Given the description of an element on the screen output the (x, y) to click on. 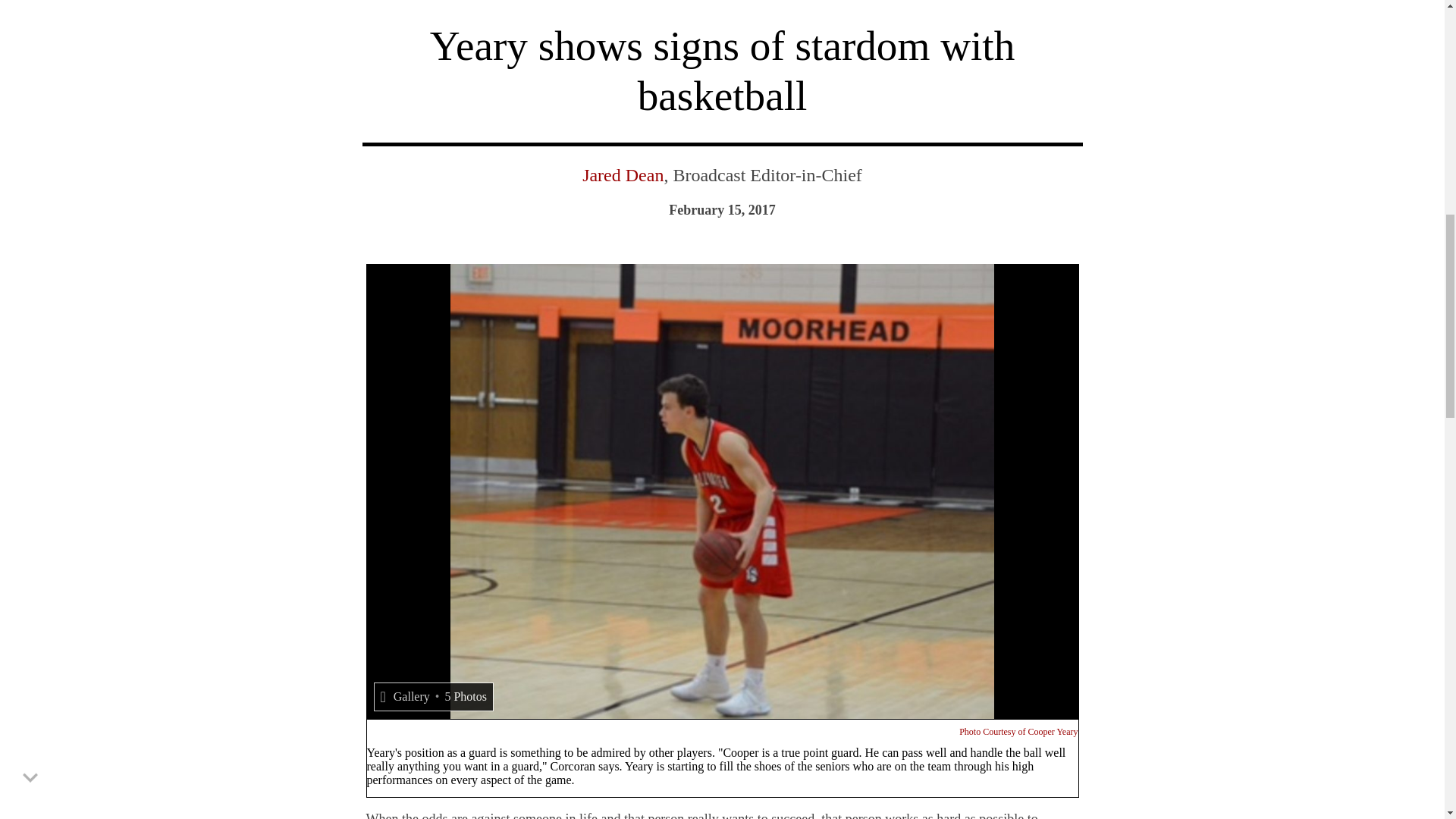
Photo Courtesy of Cooper Yeary (1018, 731)
Jared Dean (622, 175)
